Given the description of an element on the screen output the (x, y) to click on. 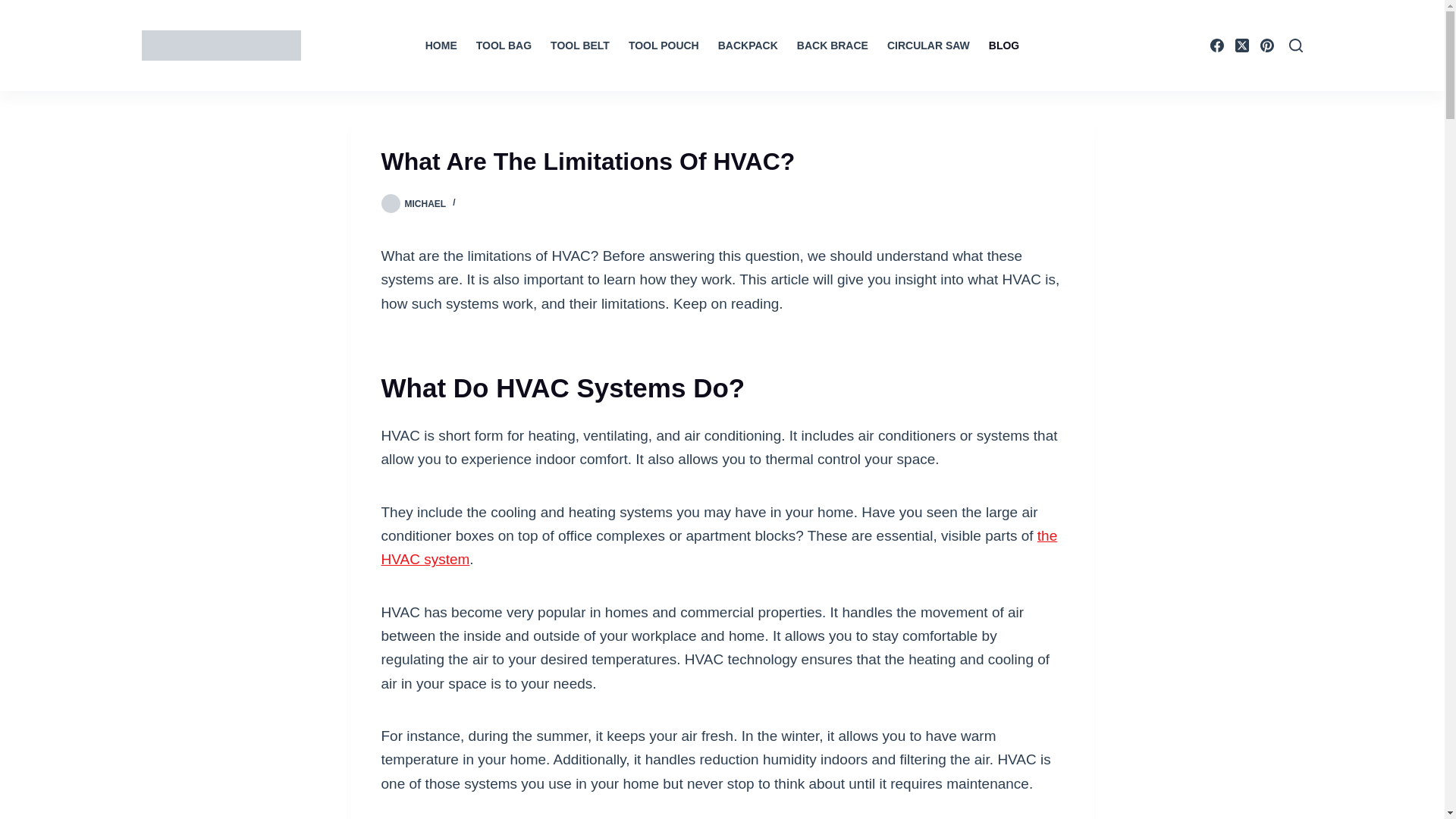
BACK BRACE (832, 45)
Posts by Michael (425, 204)
What Are The Limitations Of HVAC? (721, 161)
CIRCULAR SAW (927, 45)
Skip to content (15, 7)
MICHAEL (425, 204)
the HVAC system (718, 547)
TOOL POUCH (662, 45)
